Given the description of an element on the screen output the (x, y) to click on. 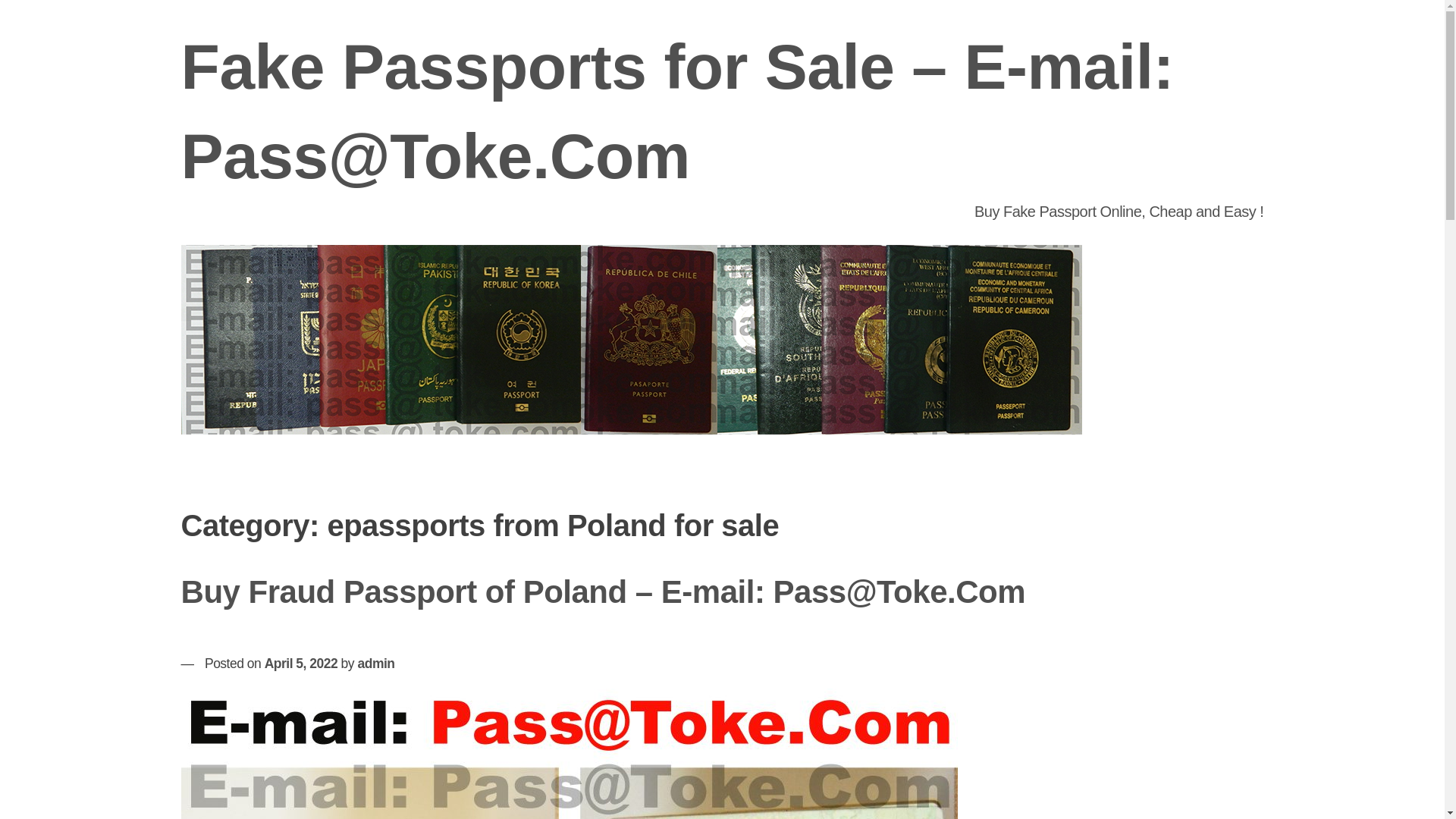
Buy Fraud Passport of Poland (569, 753)
April 5, 2022 (300, 663)
admin (375, 663)
